Given the description of an element on the screen output the (x, y) to click on. 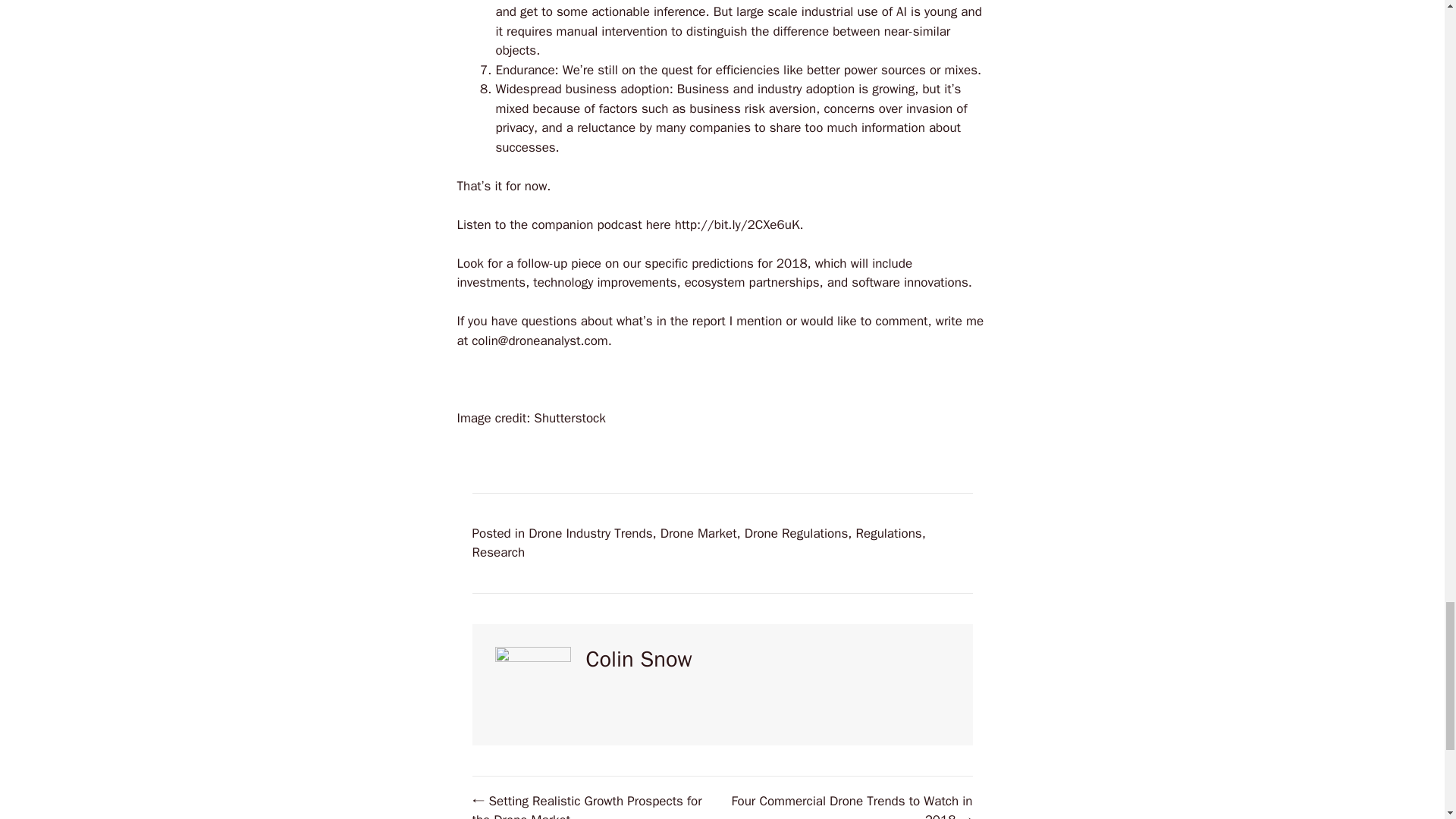
Drone Industry Trends (590, 532)
the report (697, 320)
Drone Regulations (795, 532)
Regulations (888, 532)
Drone Market (698, 532)
Research (497, 552)
